Given the description of an element on the screen output the (x, y) to click on. 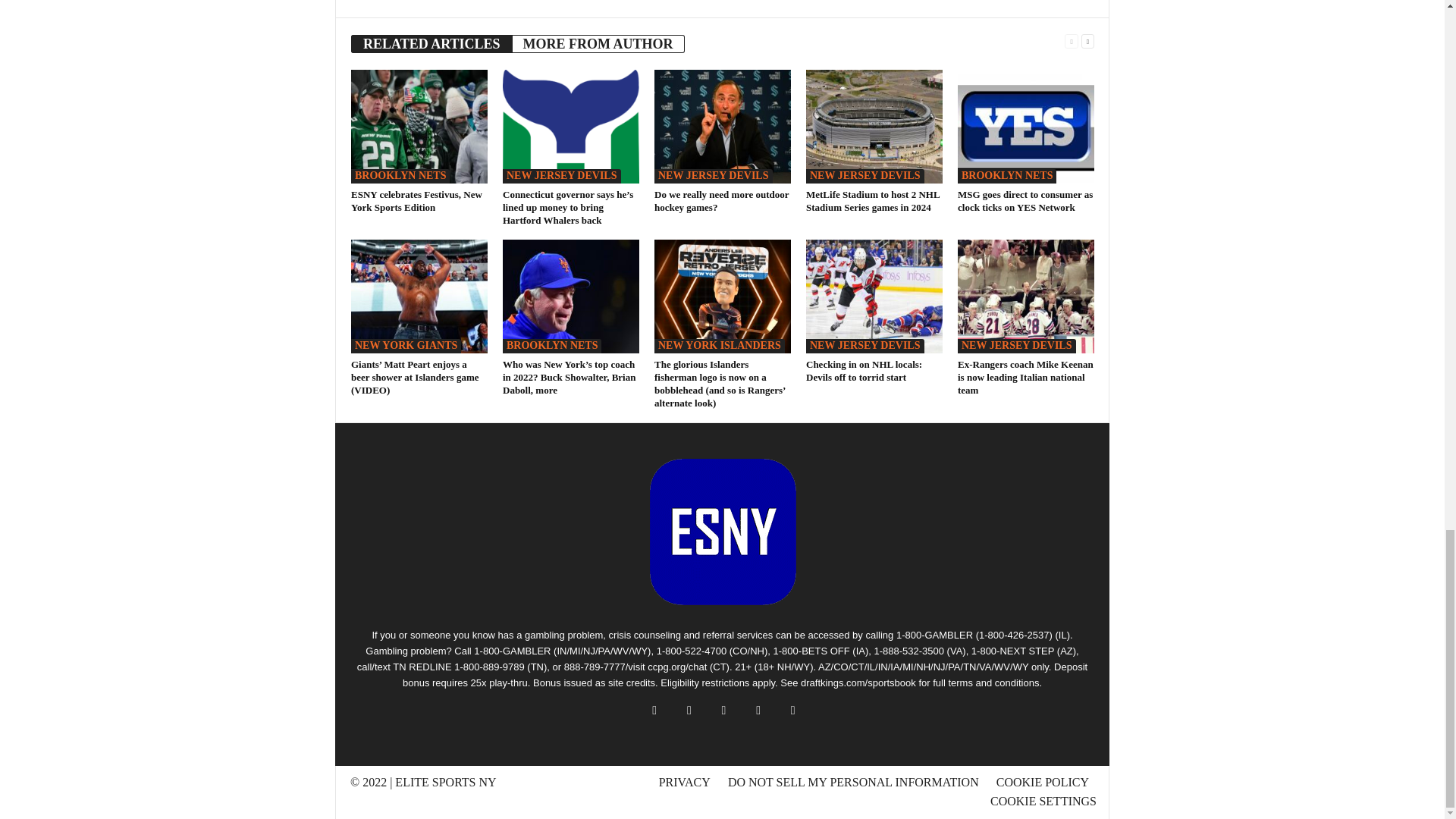
ESNY celebrates Festivus, New York Sports Edition (415, 200)
Twitter (449, 0)
ESNY celebrates Festivus, New York Sports Edition (418, 126)
